Given the description of an element on the screen output the (x, y) to click on. 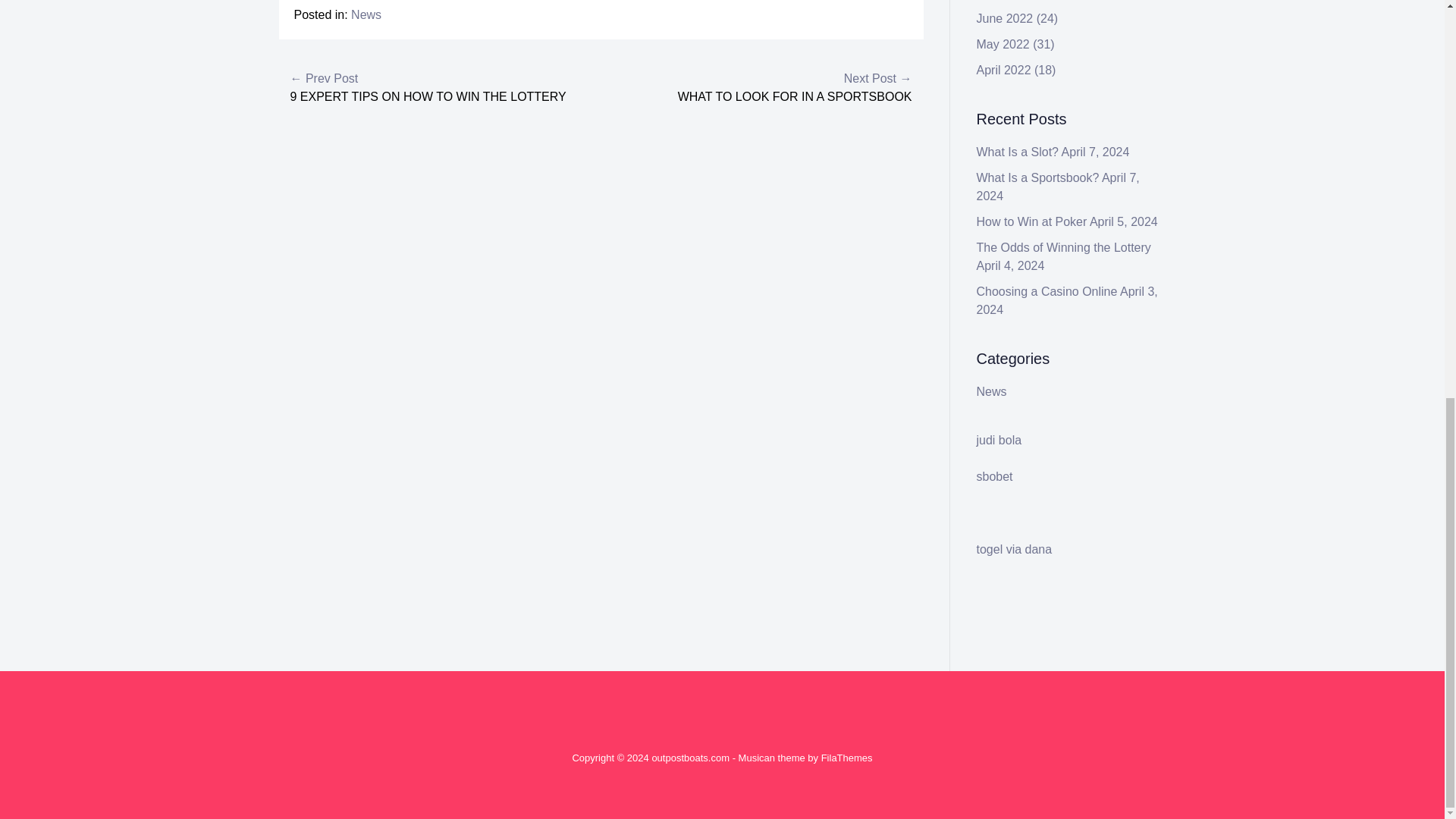
outpostboats.com (689, 757)
News (365, 14)
May 2022 (1002, 43)
June 2022 (1004, 18)
April 2022 (1003, 69)
